Given the description of an element on the screen output the (x, y) to click on. 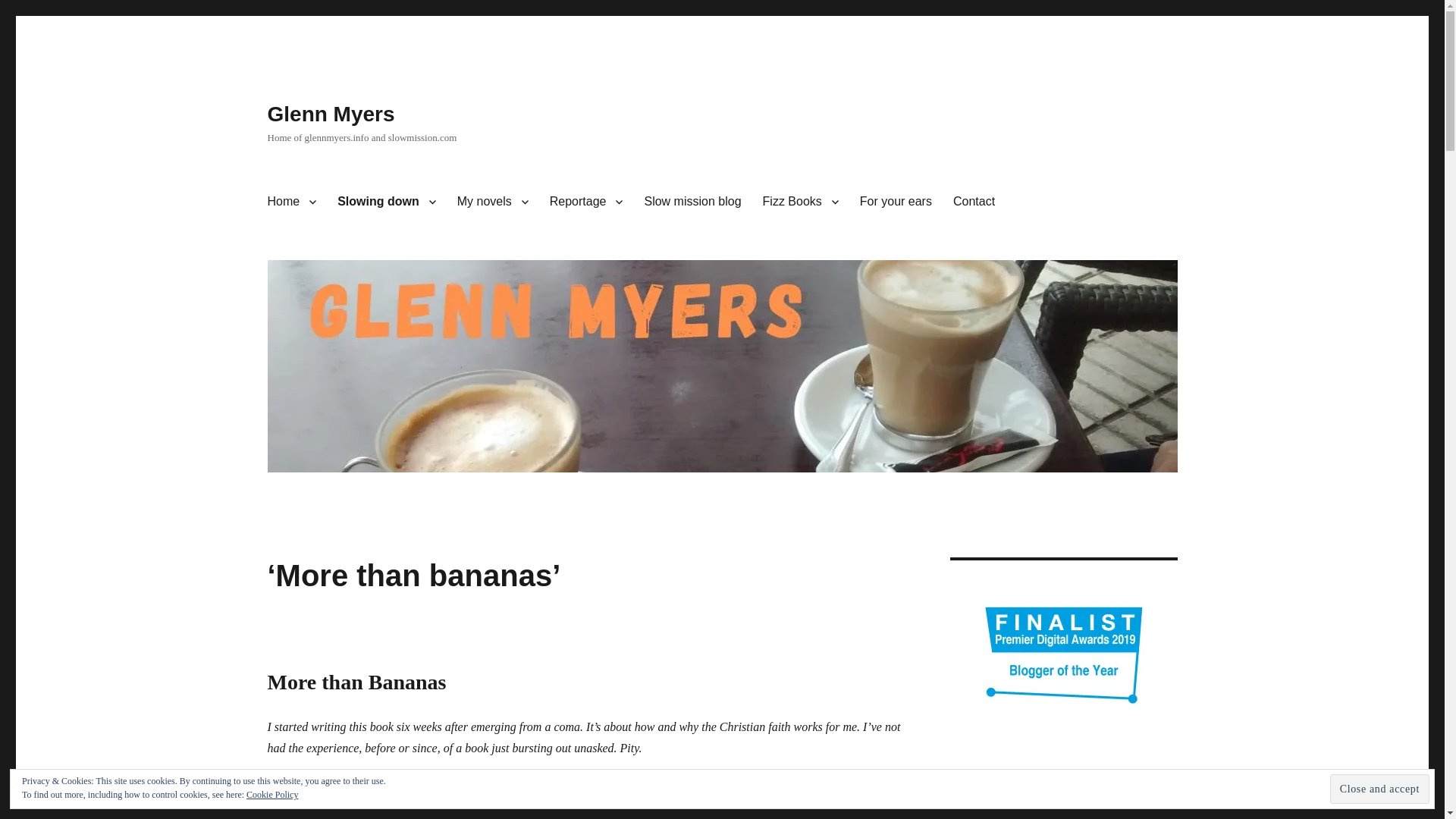
My novels (492, 201)
Reportage (585, 201)
Glenn Myers (330, 114)
Slowing down (386, 201)
Close and accept (1379, 788)
Home (291, 201)
